Given the description of an element on the screen output the (x, y) to click on. 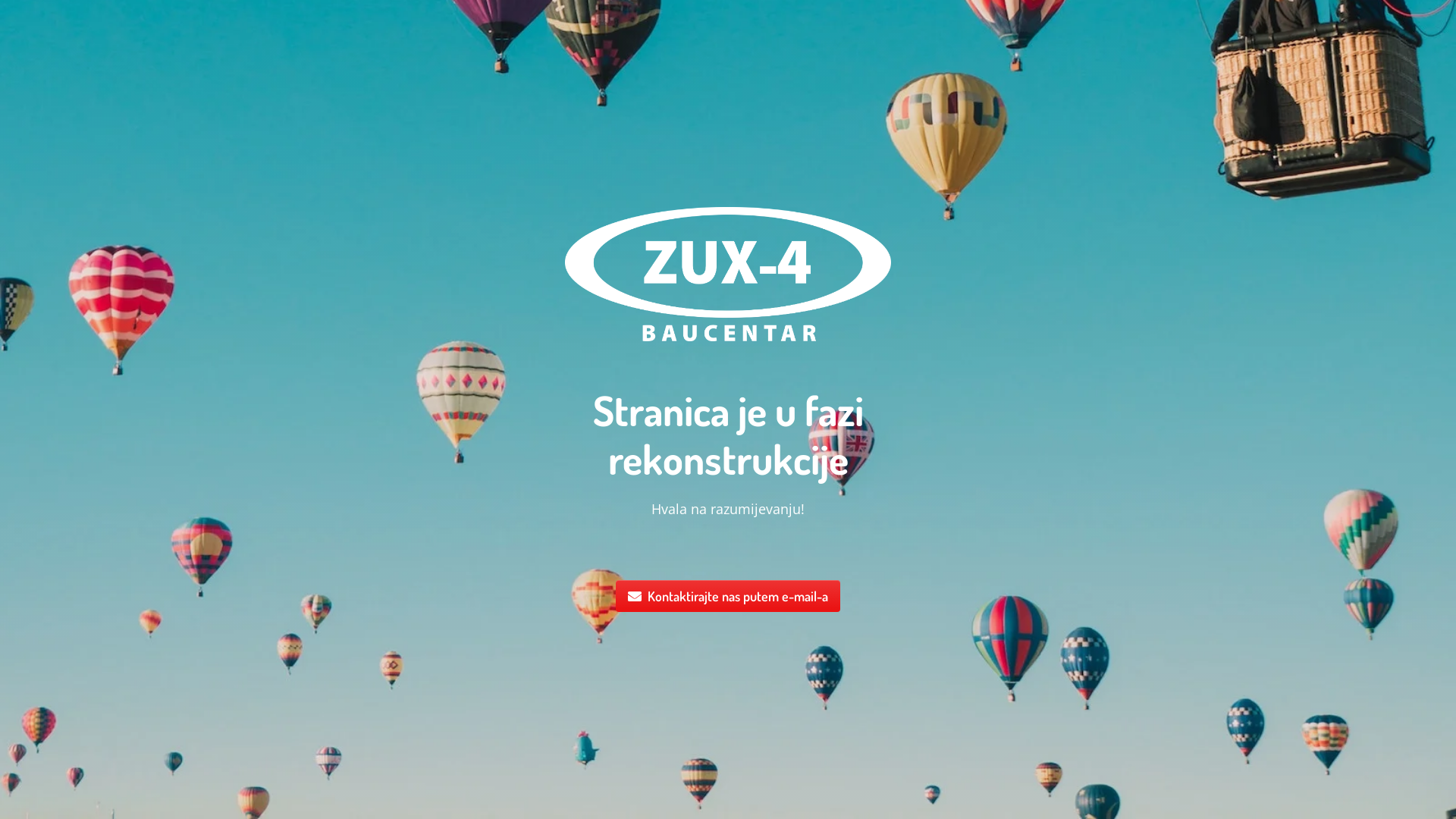
Kontaktirajte nas putem e-mail-a Element type: text (727, 595)
